Given the description of an element on the screen output the (x, y) to click on. 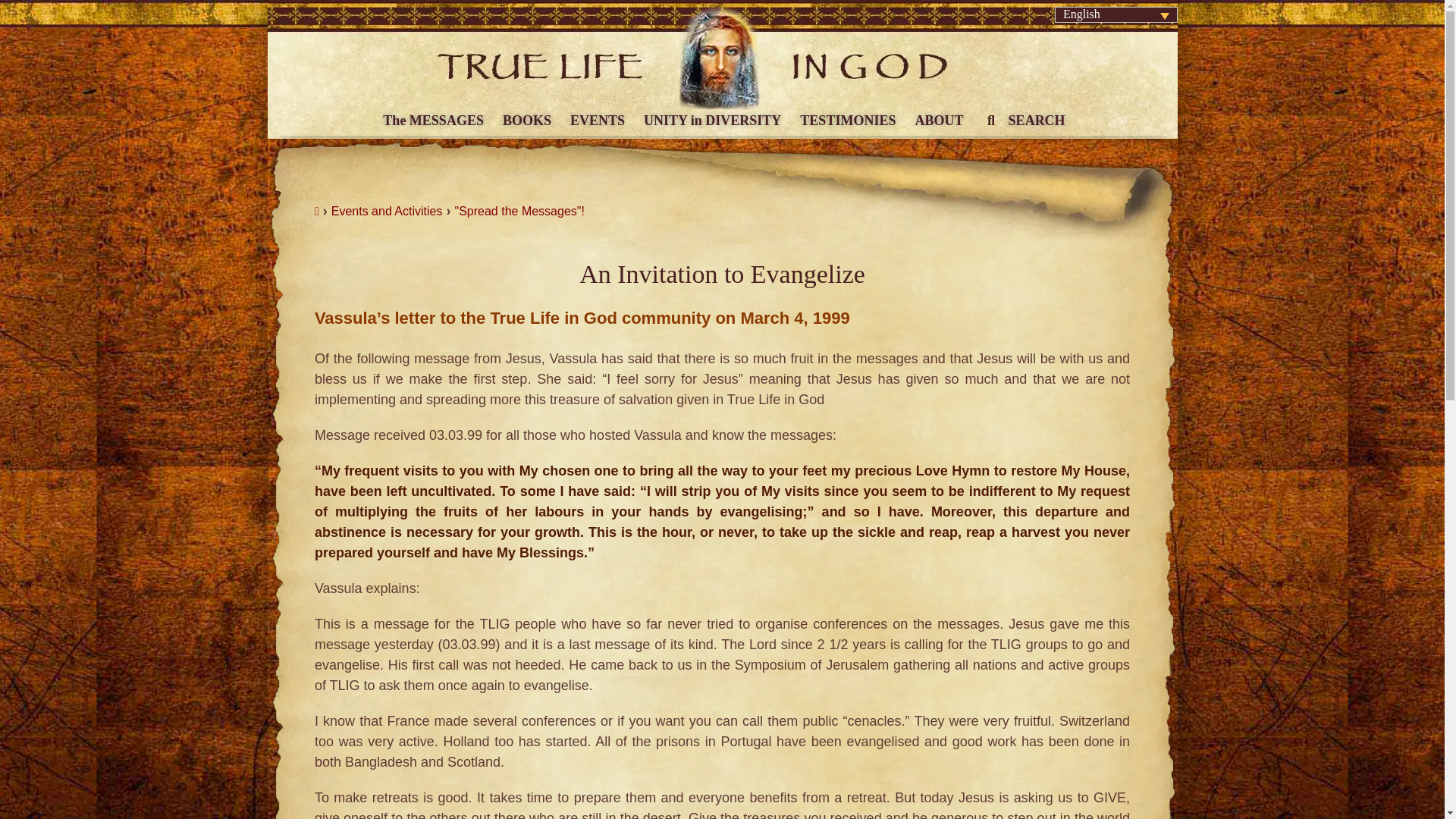
The MESSAGES (431, 115)
BOOKS (525, 115)
English (1115, 14)
